Given the description of an element on the screen output the (x, y) to click on. 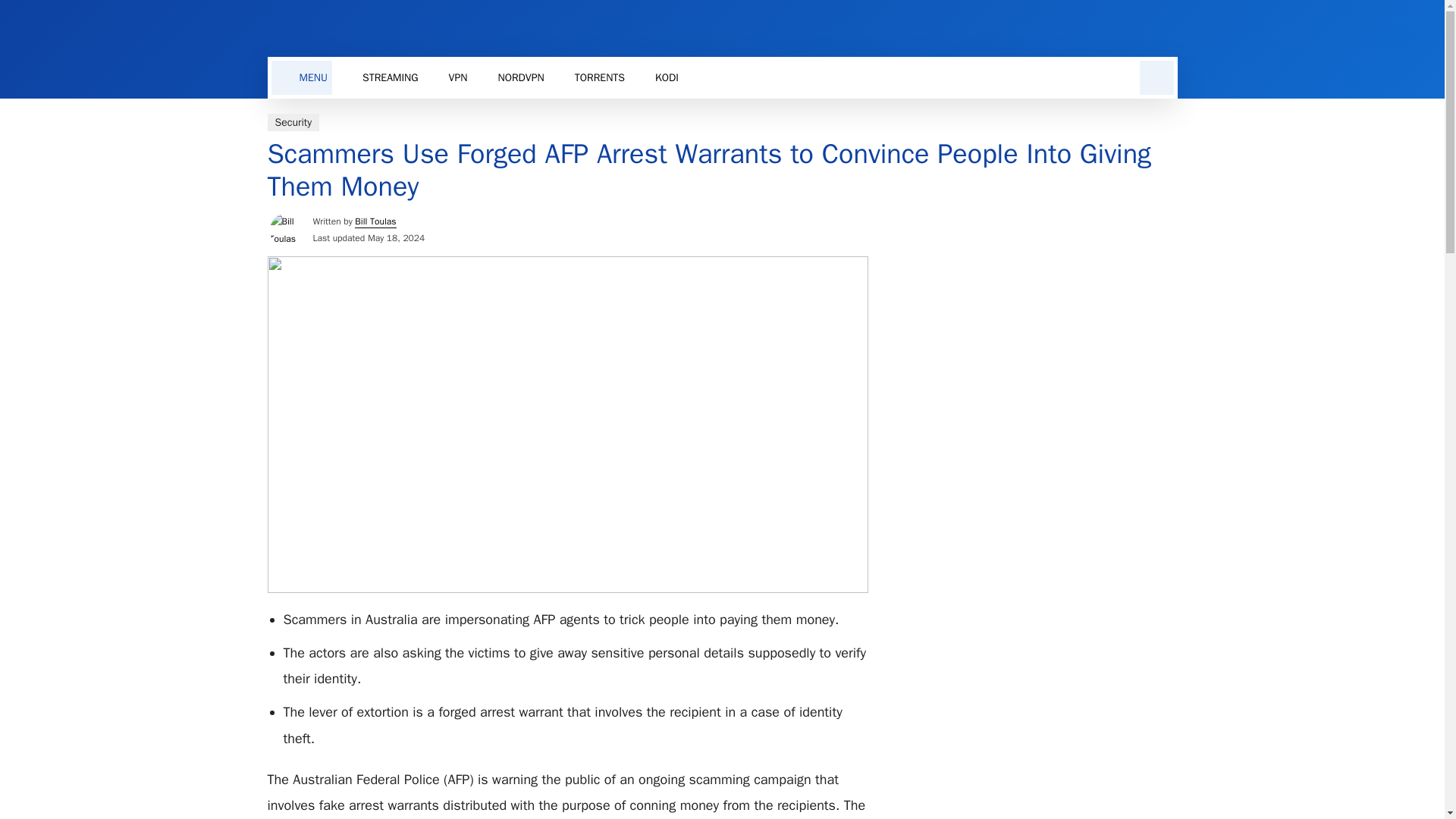
MENU (301, 77)
KODI (666, 76)
VPN (458, 76)
STREAMING (390, 76)
Find us on Facebook (1131, 27)
NORDVPN (520, 76)
TORRENTS (599, 76)
Find us on X (721, 77)
